Given the description of an element on the screen output the (x, y) to click on. 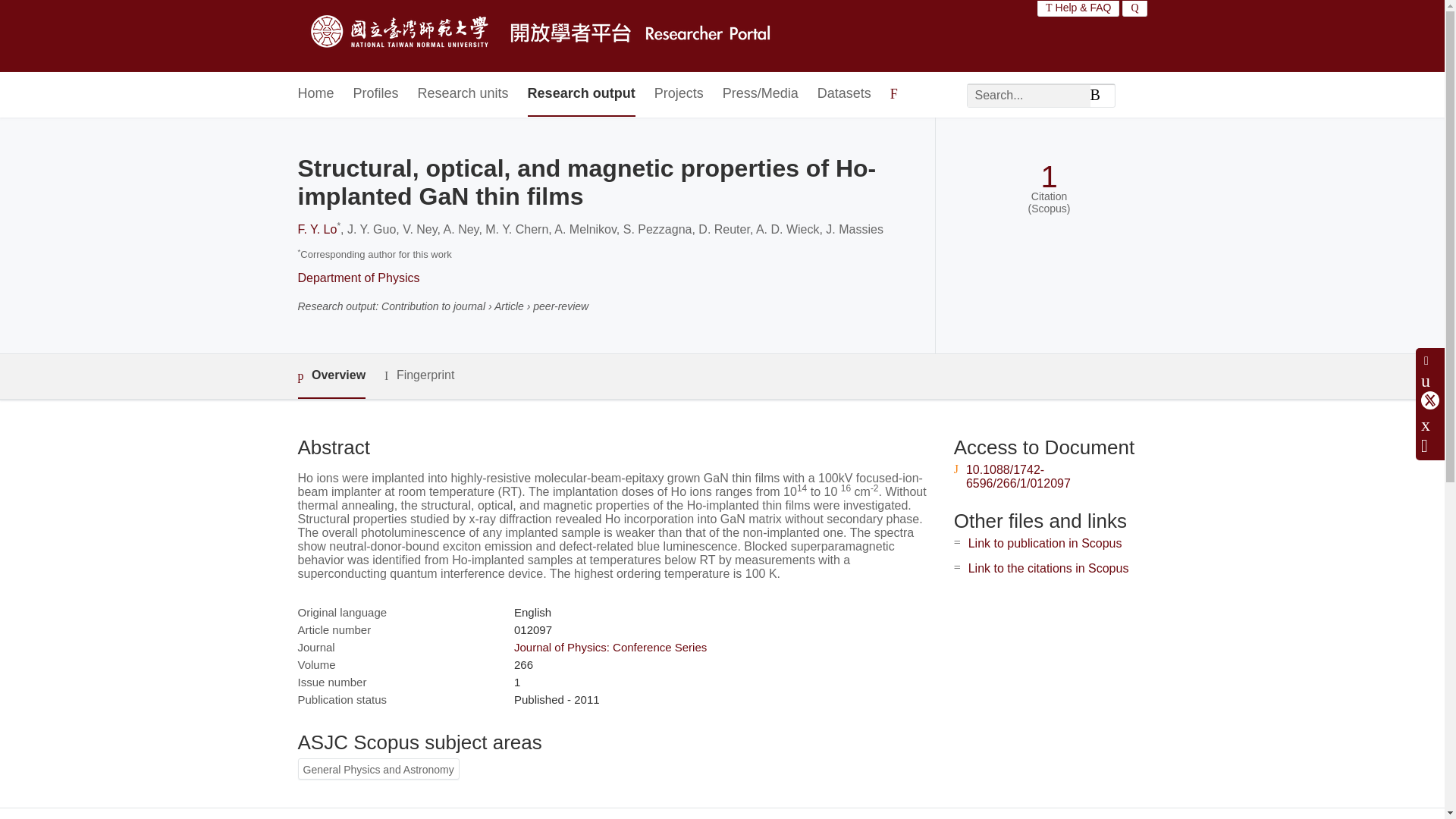
Department of Physics (358, 277)
Datasets (843, 94)
Fingerprint (419, 375)
F. Y. Lo (316, 228)
National Taiwan Normal University Home (543, 35)
Projects (678, 94)
Research output (580, 94)
Profiles (375, 94)
Link to the citations in Scopus (1048, 567)
